Given the description of an element on the screen output the (x, y) to click on. 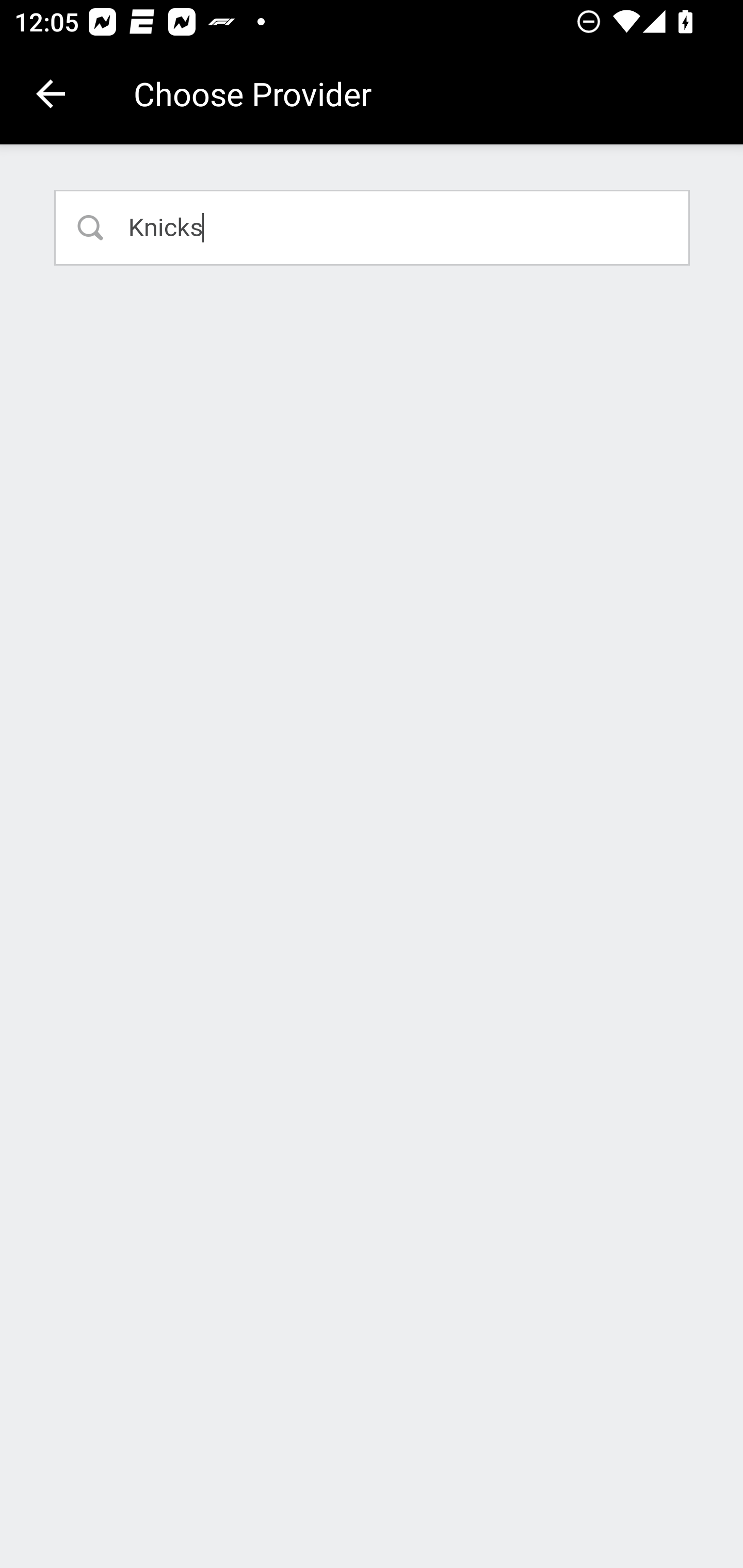
Navigate up (50, 93)
Knicks (372, 227)
